Given the description of an element on the screen output the (x, y) to click on. 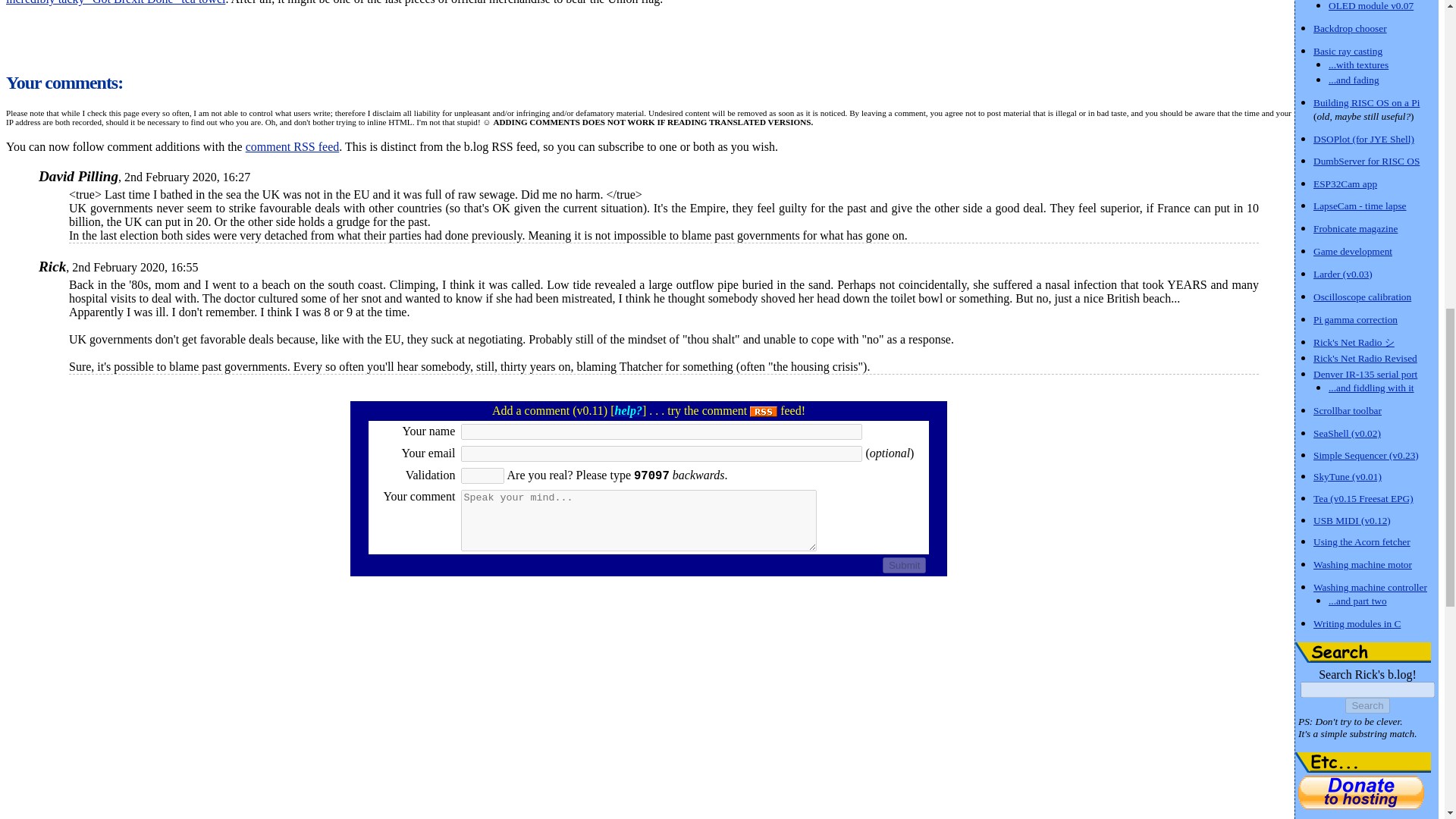
Building RISC OS on a Pi (1366, 101)
Search (1367, 705)
Submit (904, 565)
Submit (904, 565)
OLED module v0.07 (1370, 5)
comment RSS feed (292, 146)
Etc... (1363, 762)
Backdrop chooser (1350, 27)
...and fading (1352, 78)
Search (1363, 652)
